Given the description of an element on the screen output the (x, y) to click on. 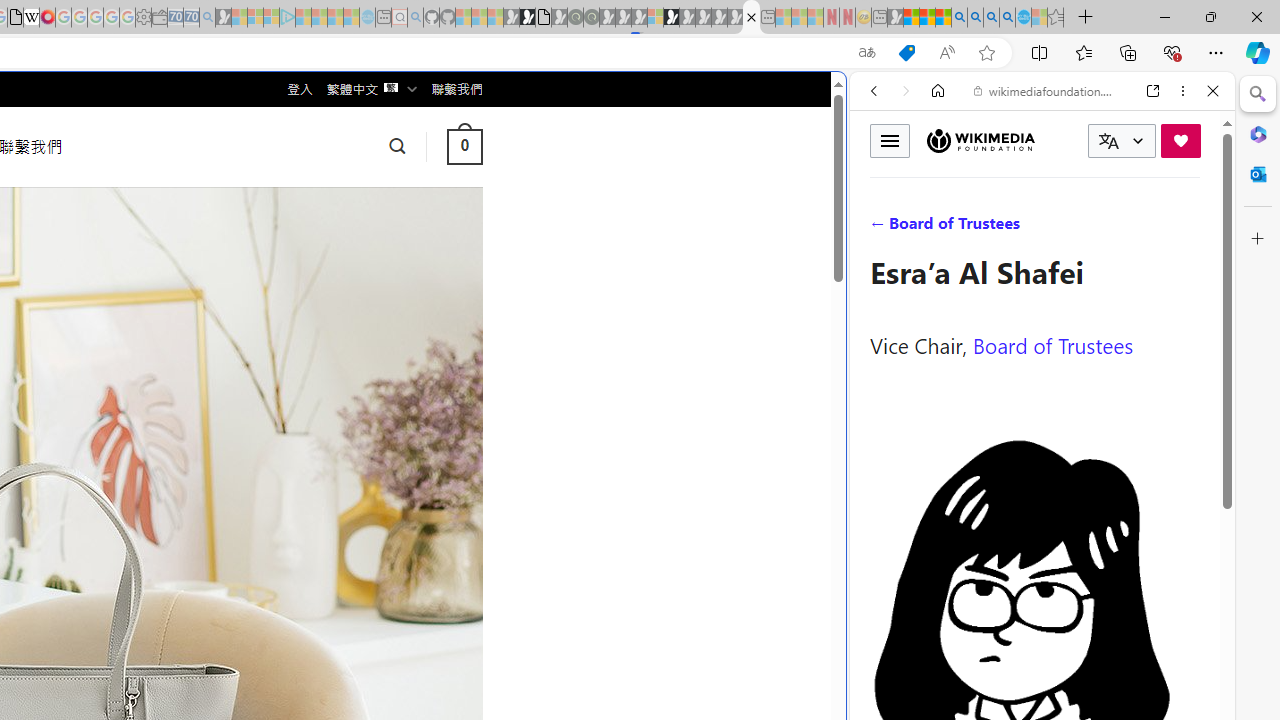
Home | Sky Blue Bikes - Sky Blue Bikes (687, 426)
Play Cave FRVR in your browser | Games from Microsoft Start (343, 426)
Home (938, 91)
Microsoft Start Gaming - Sleeping (223, 17)
2009 Bing officially replaced Live Search on June 3 - Search (975, 17)
